Given the description of an element on the screen output the (x, y) to click on. 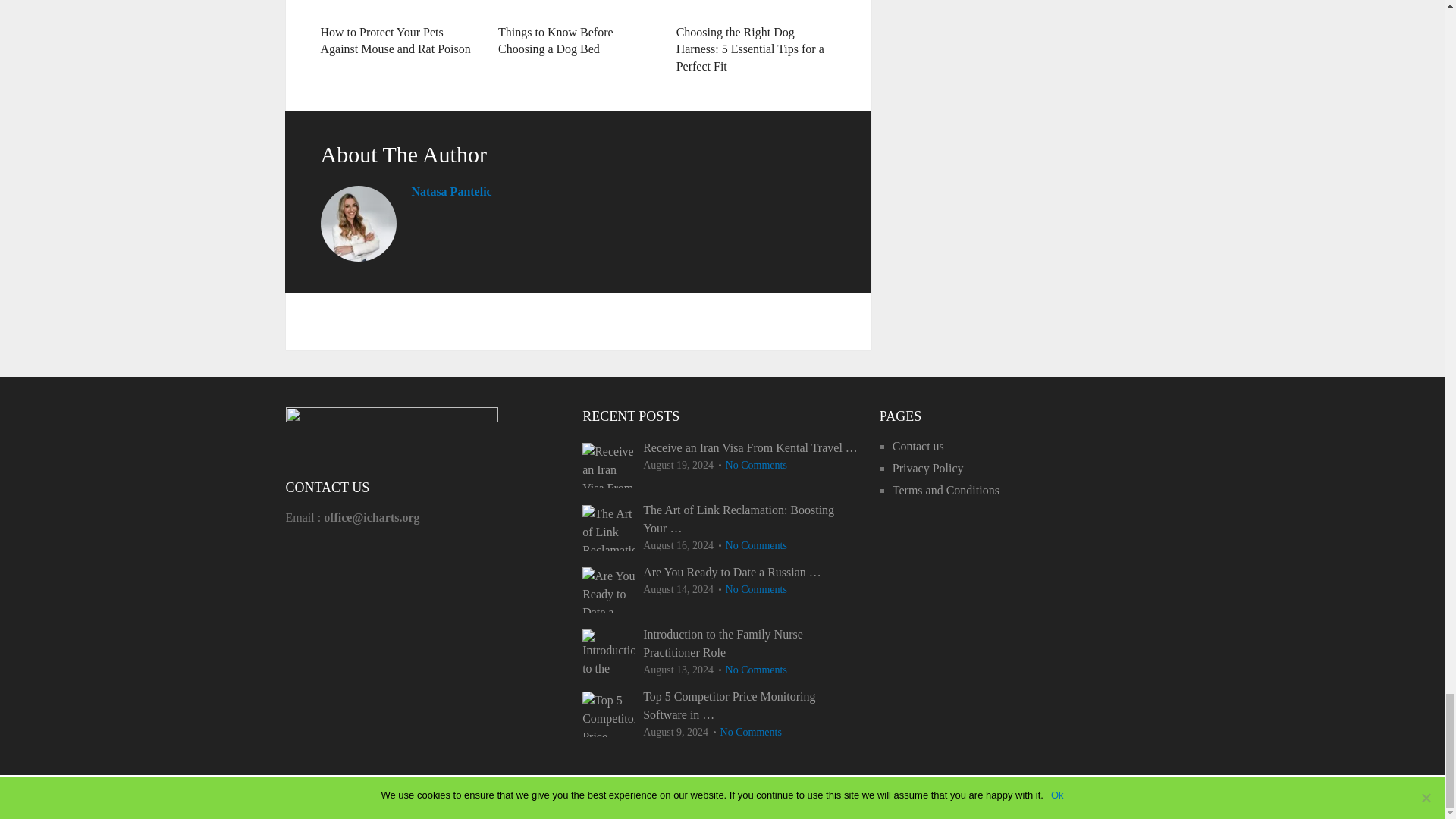
How to Protect Your Pets Against Mouse and Rat Poison (395, 40)
How to Protect Your Pets Against Mouse and Rat Poison (395, 40)
Receive an Iran Visa From Kental Travel as Soon as Possible (608, 465)
Things to Know Before Choosing a Dog Bed (577, 8)
How to Protect Your Pets Against Mouse and Rat Poison (400, 8)
Things to Know Before Choosing a Dog Bed (554, 40)
Receive an Iran Visa From Kental Travel as Soon as Possible (721, 447)
